Given the description of an element on the screen output the (x, y) to click on. 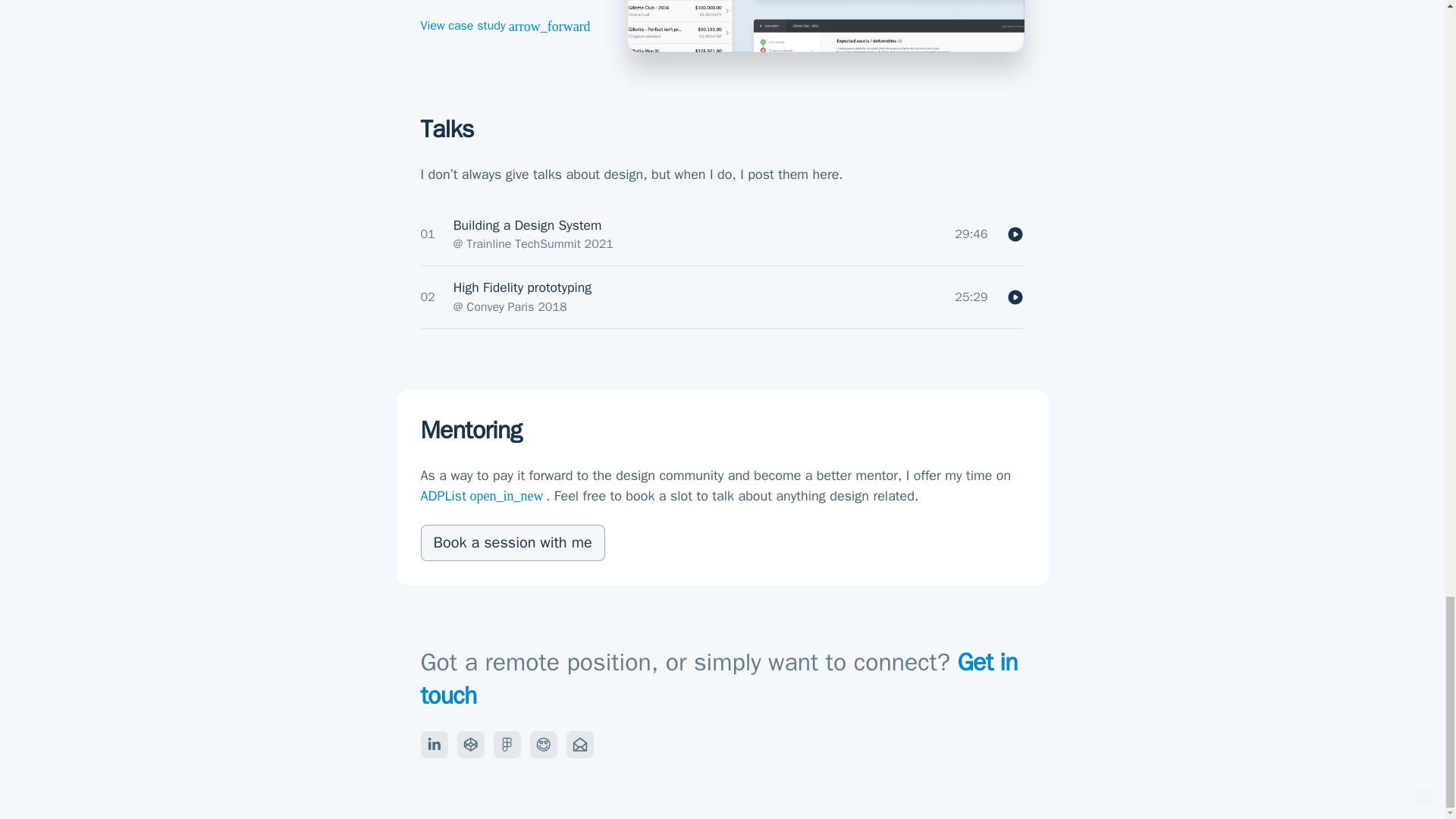
linkedin (433, 744)
codepen (470, 744)
Get in touch (718, 679)
email (579, 744)
Book a session with me (512, 542)
ADPList (512, 542)
ADPList (483, 495)
ADPList (483, 495)
figma (506, 744)
adplist (542, 744)
